Given the description of an element on the screen output the (x, y) to click on. 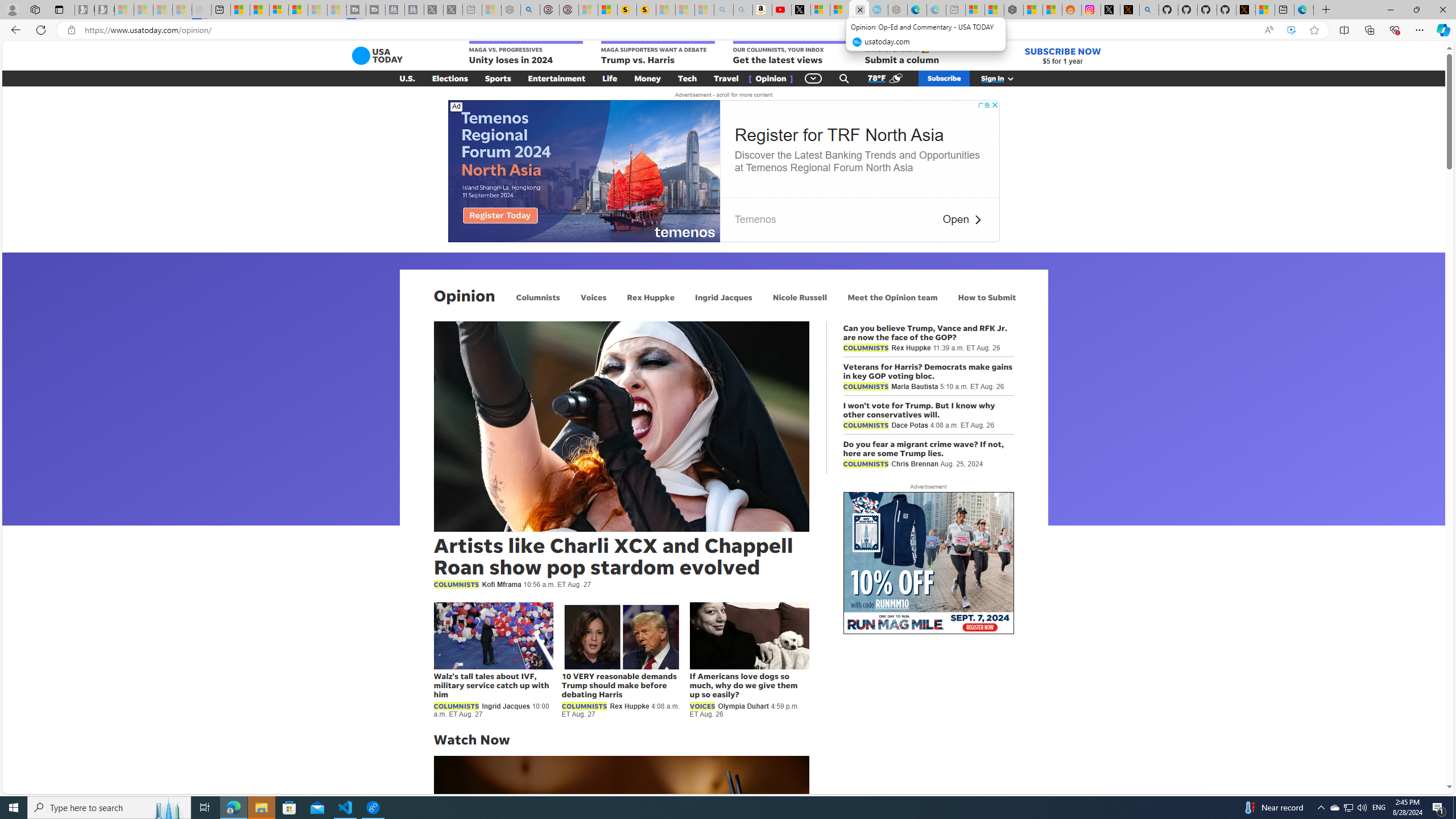
How to Submit (986, 296)
MAGA VS. PROGRESSIVES Unity loses in 2024 (525, 53)
Global Navigation (813, 78)
Workspaces (34, 9)
View site information (70, 29)
New Tab (1325, 9)
Add this page to favorites (Ctrl+D) (1314, 29)
Open (955, 219)
AutomationID: aw0 (928, 563)
